Given the description of an element on the screen output the (x, y) to click on. 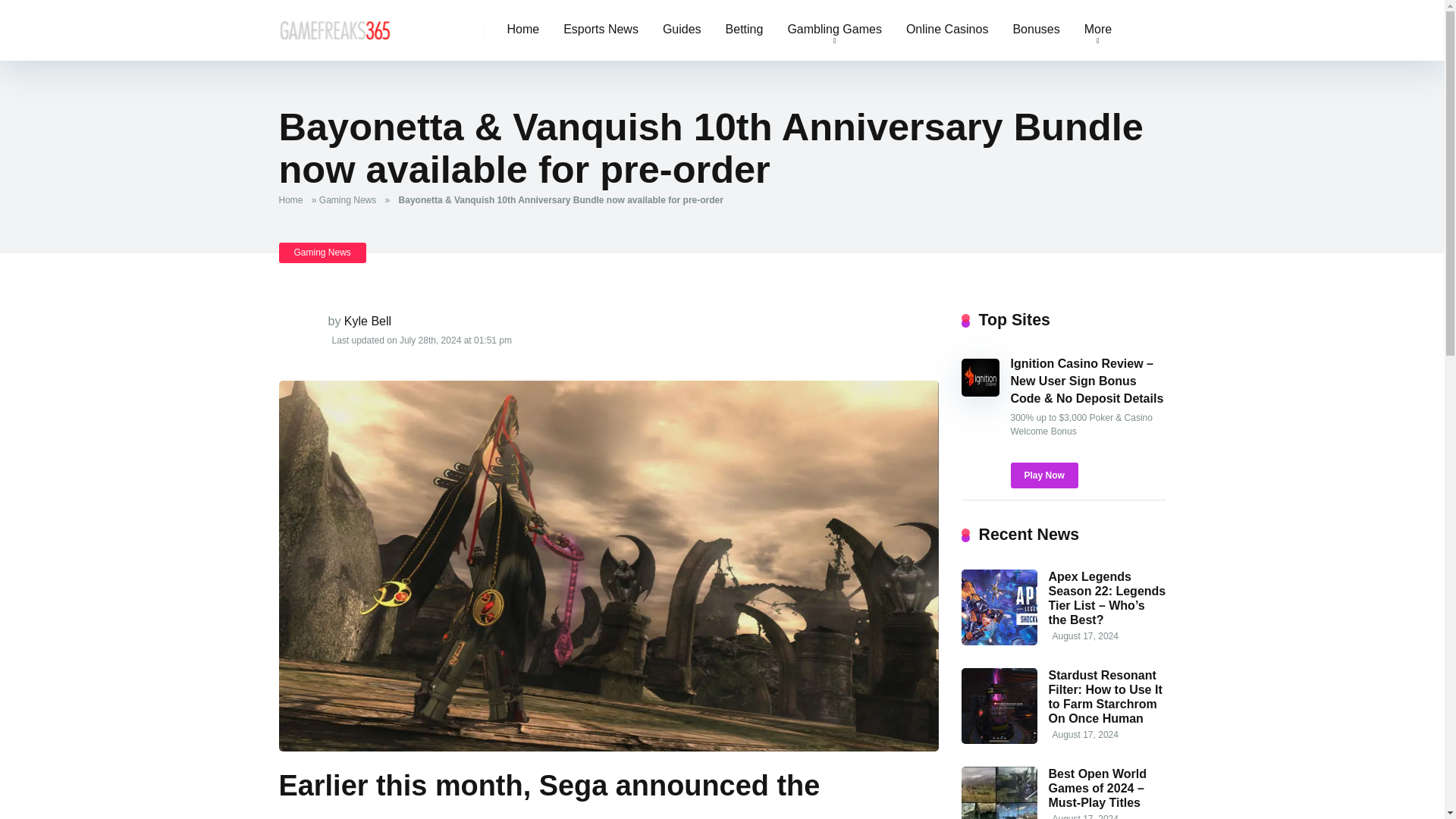
Esports News (600, 30)
Game Freaks 365 (335, 24)
Play Now (1043, 475)
Online Casinos (947, 30)
Kyle Bell (367, 320)
Gaming News (349, 199)
Betting (744, 30)
Home (523, 30)
